Given the description of an element on the screen output the (x, y) to click on. 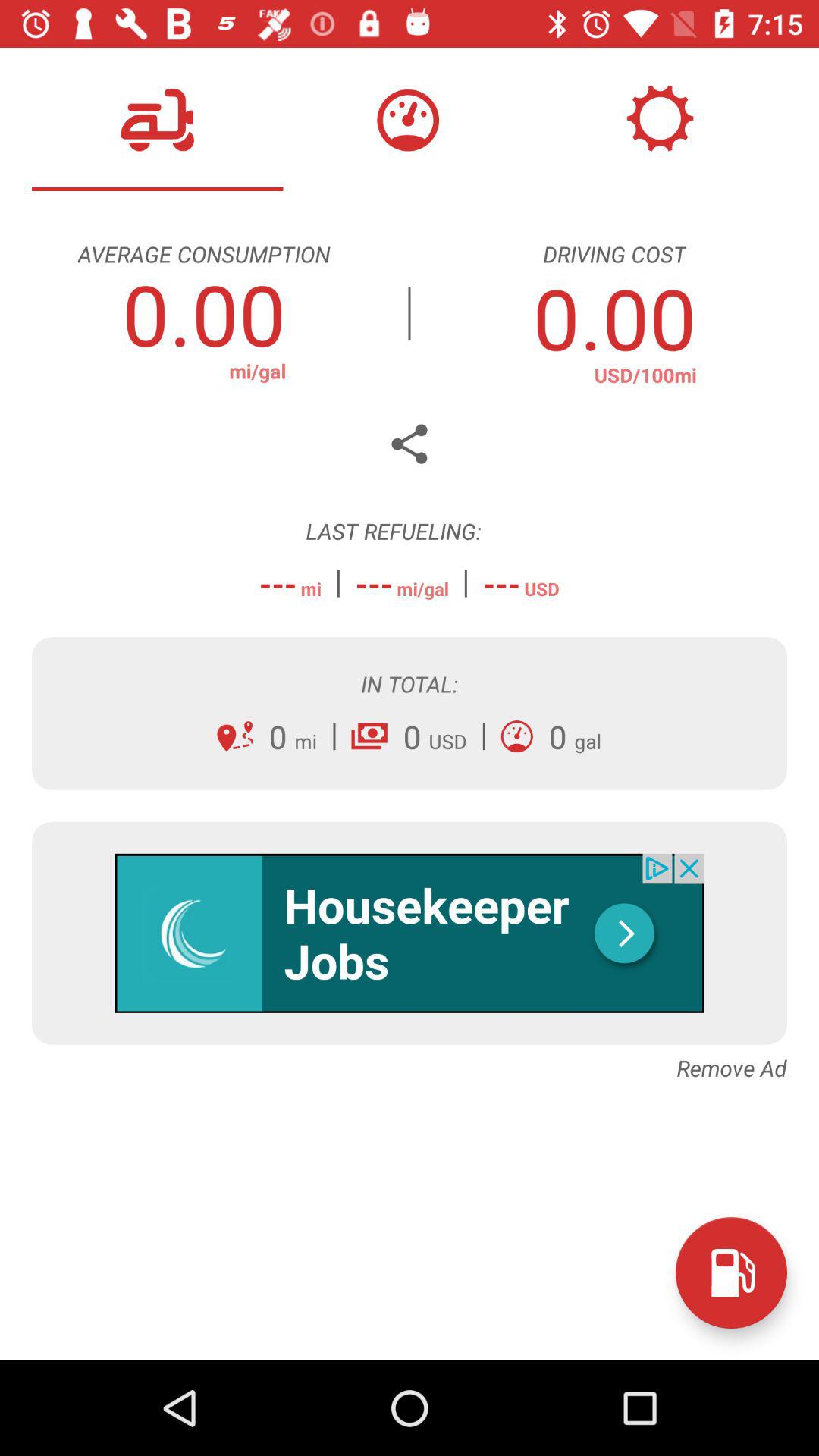
advertisement (409, 932)
